Given the description of an element on the screen output the (x, y) to click on. 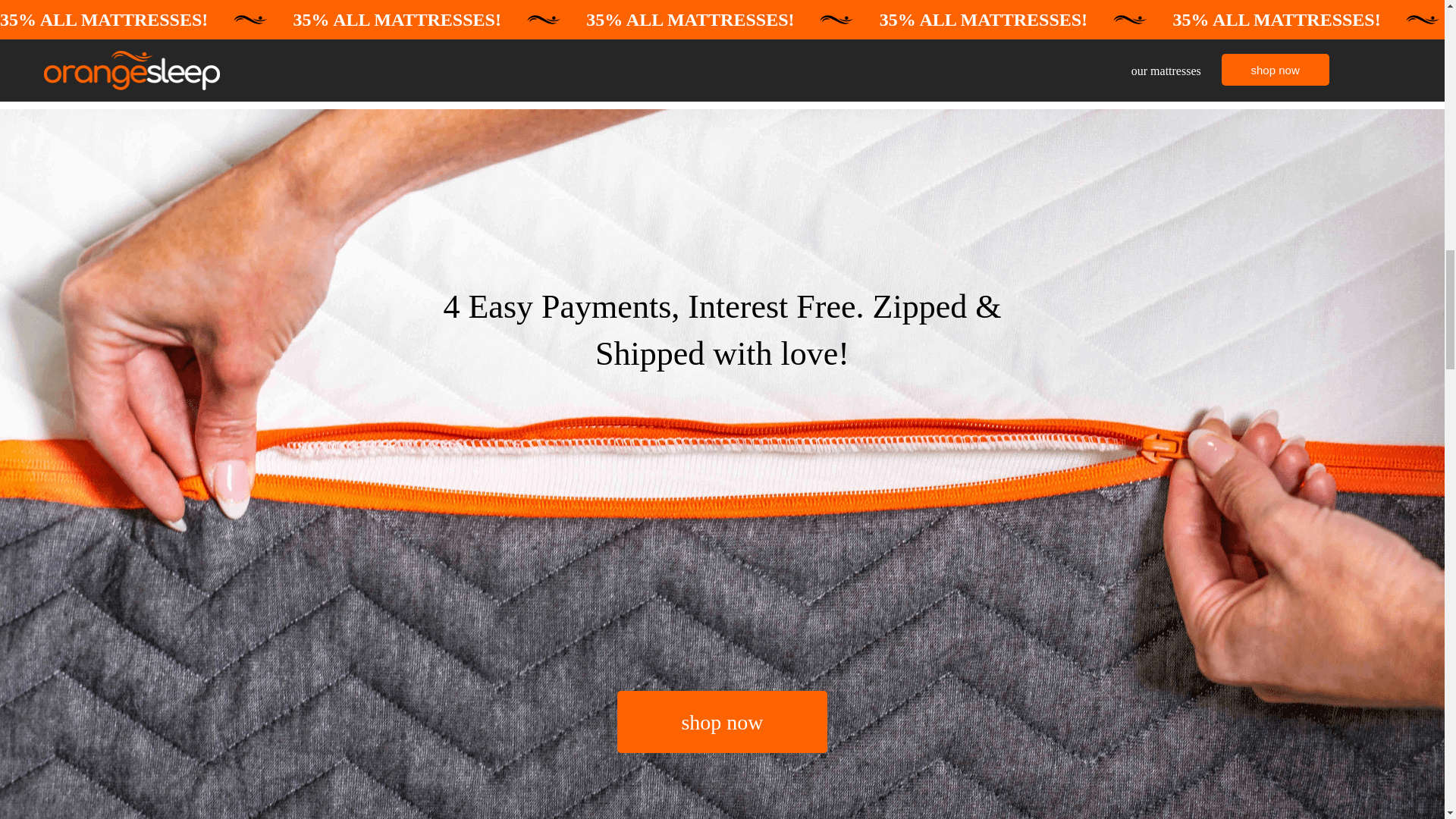
shop now (722, 721)
